Given the description of an element on the screen output the (x, y) to click on. 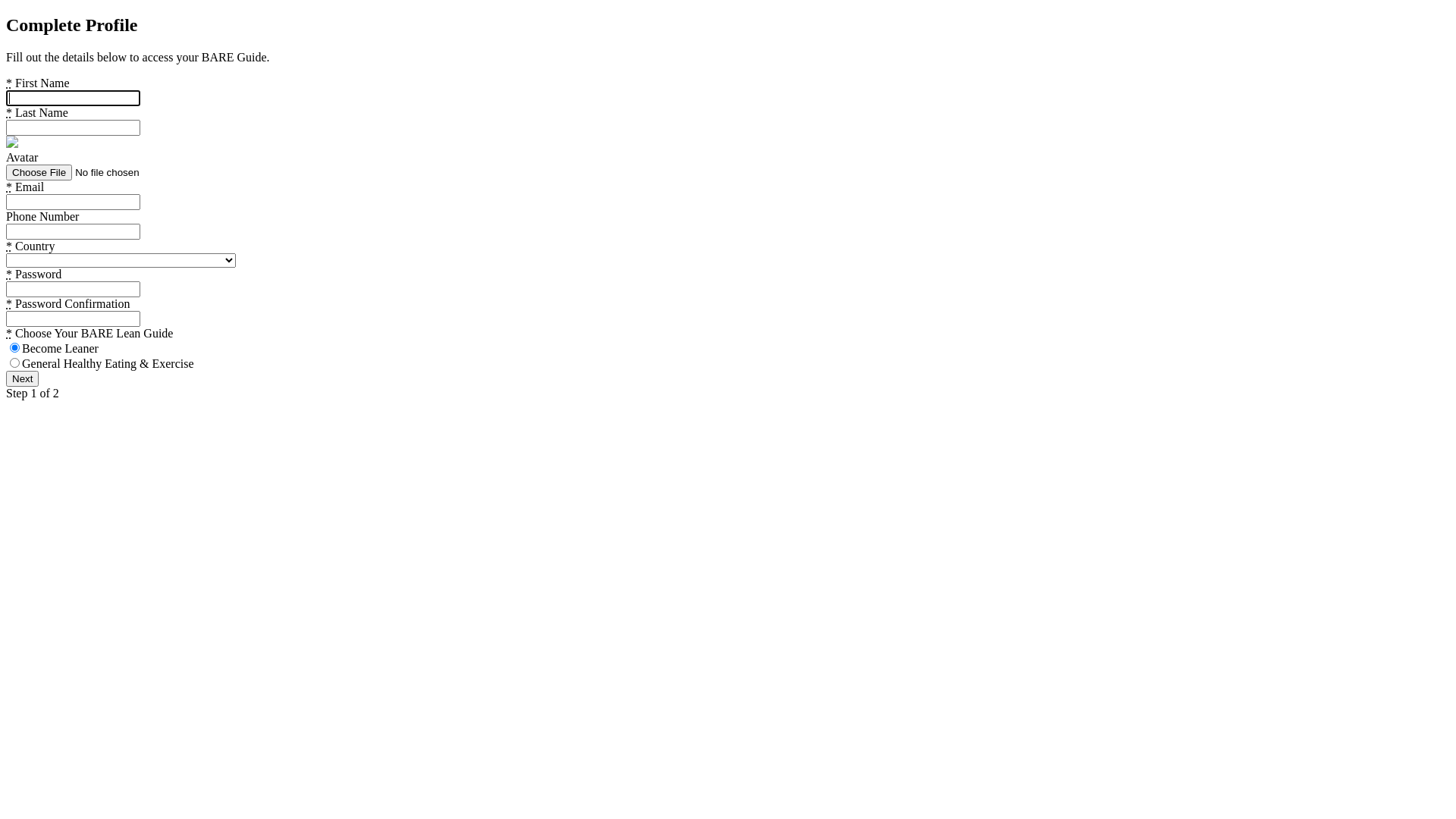
Next Element type: text (22, 378)
